Given the description of an element on the screen output the (x, y) to click on. 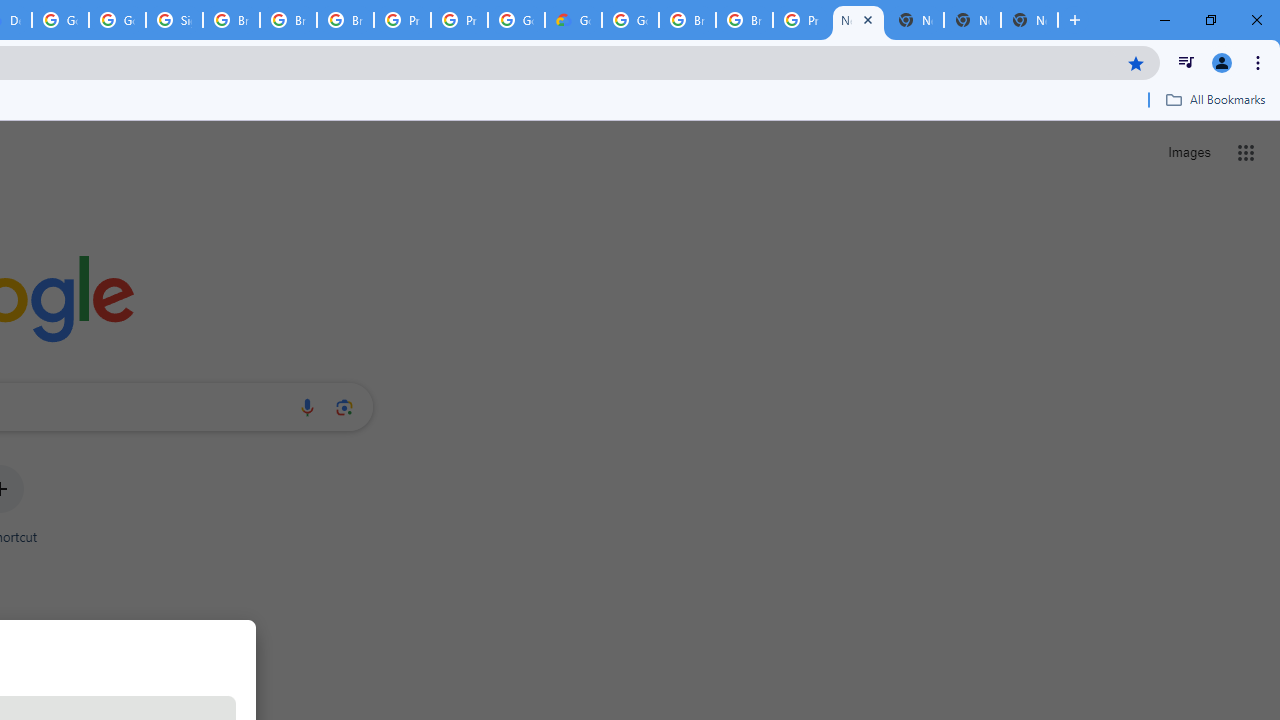
Google Cloud Platform (516, 20)
Browse Chrome as a guest - Computer - Google Chrome Help (288, 20)
Google Cloud Estimate Summary (573, 20)
Browse Chrome as a guest - Computer - Google Chrome Help (231, 20)
Google Cloud Platform (630, 20)
Google Cloud Platform (60, 20)
Browse Chrome as a guest - Computer - Google Chrome Help (687, 20)
